Given the description of an element on the screen output the (x, y) to click on. 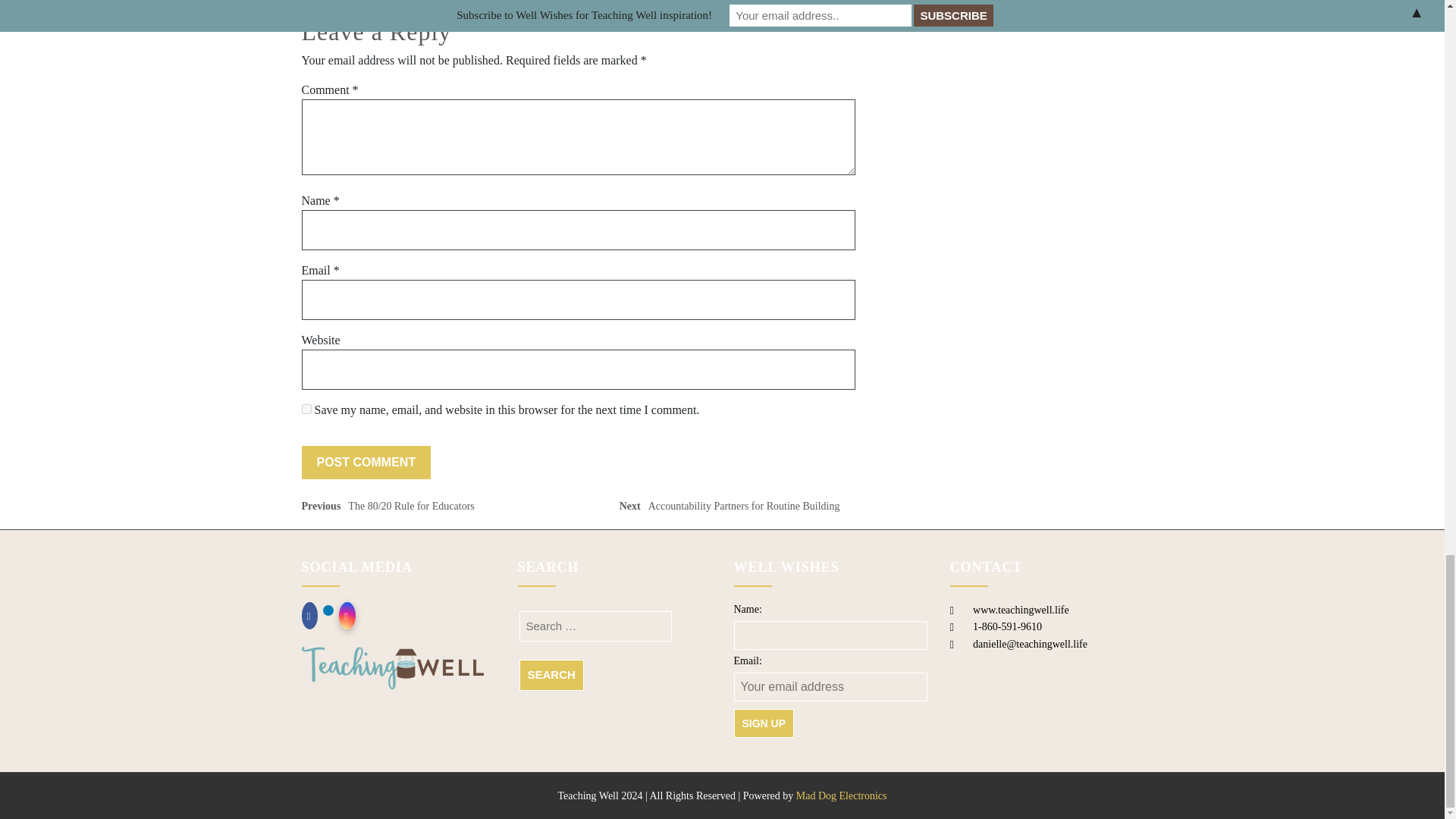
Search (550, 675)
Sign up (763, 722)
Post Comment (365, 462)
Post Comment (733, 508)
Well-being (365, 462)
yes (390, 0)
Search (306, 408)
